Given the description of an element on the screen output the (x, y) to click on. 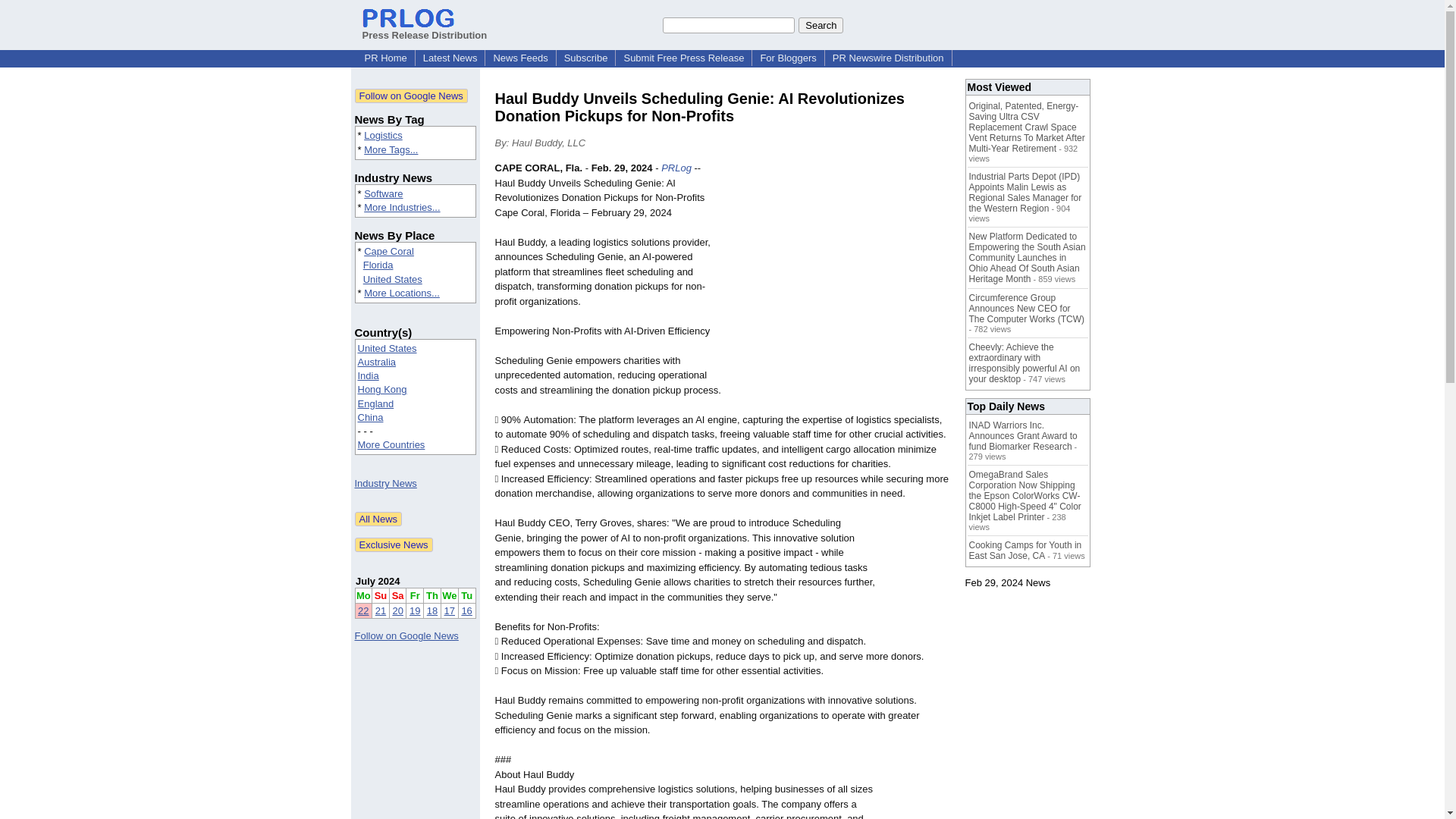
PR Home (385, 57)
21 (380, 610)
Latest News (449, 57)
More Countries (391, 444)
PR Newswire Distribution (888, 57)
Industry News (385, 482)
United States (392, 279)
News Feeds (519, 57)
Follow on Google News (411, 95)
Search (820, 24)
Search (820, 24)
Hong Kong (382, 389)
All News (379, 518)
More Locations... (401, 292)
Exclusive News (393, 544)
